Given the description of an element on the screen output the (x, y) to click on. 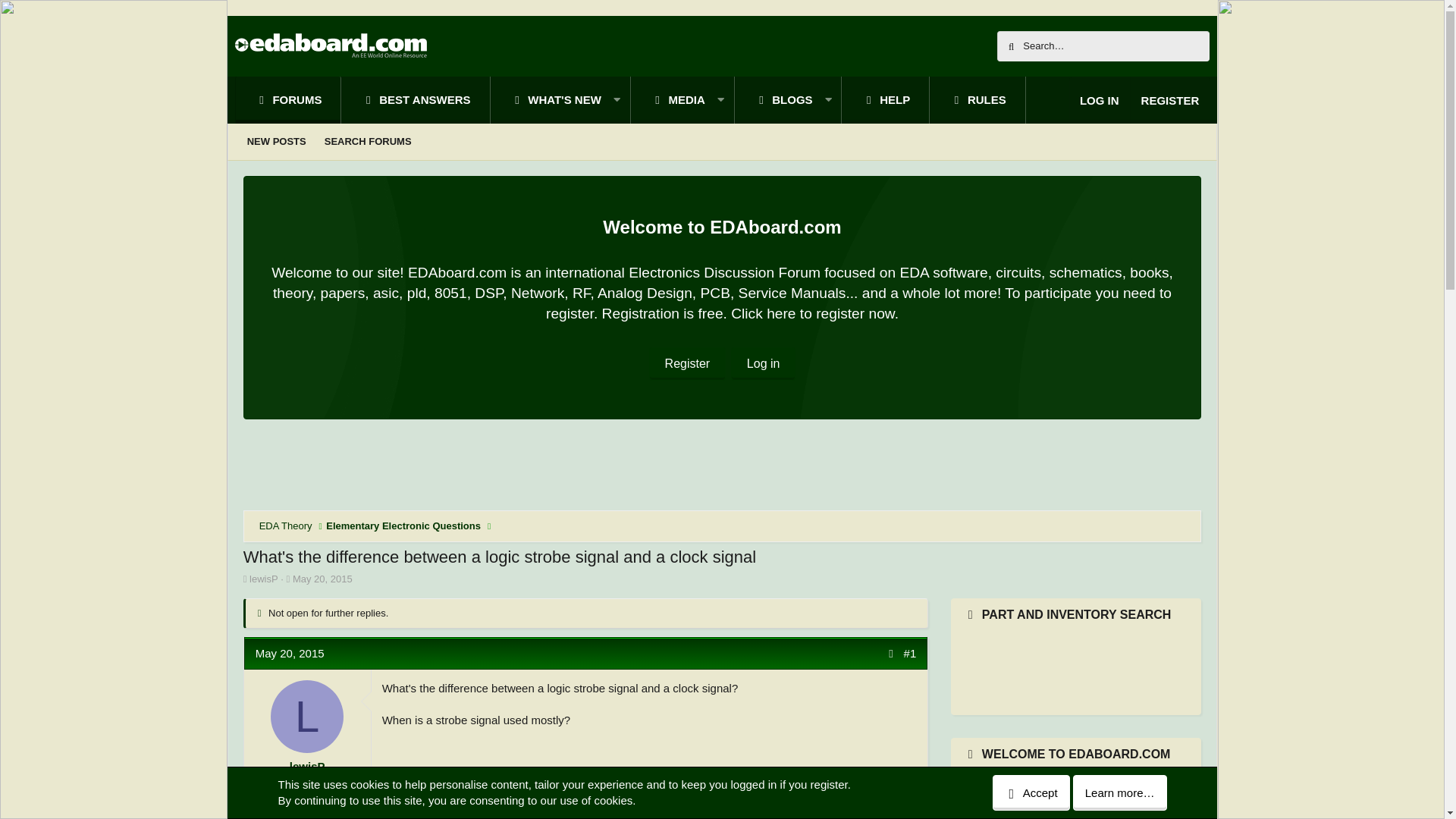
BEST ANSWERS (415, 99)
MEDIA (669, 99)
May 20, 2015 at 1:28 AM (322, 578)
FORUMS (287, 99)
HELP (885, 99)
May 20, 2015 at 1:28 AM (290, 653)
BLOGS (775, 99)
WHAT'S NEW (548, 99)
